Given the description of an element on the screen output the (x, y) to click on. 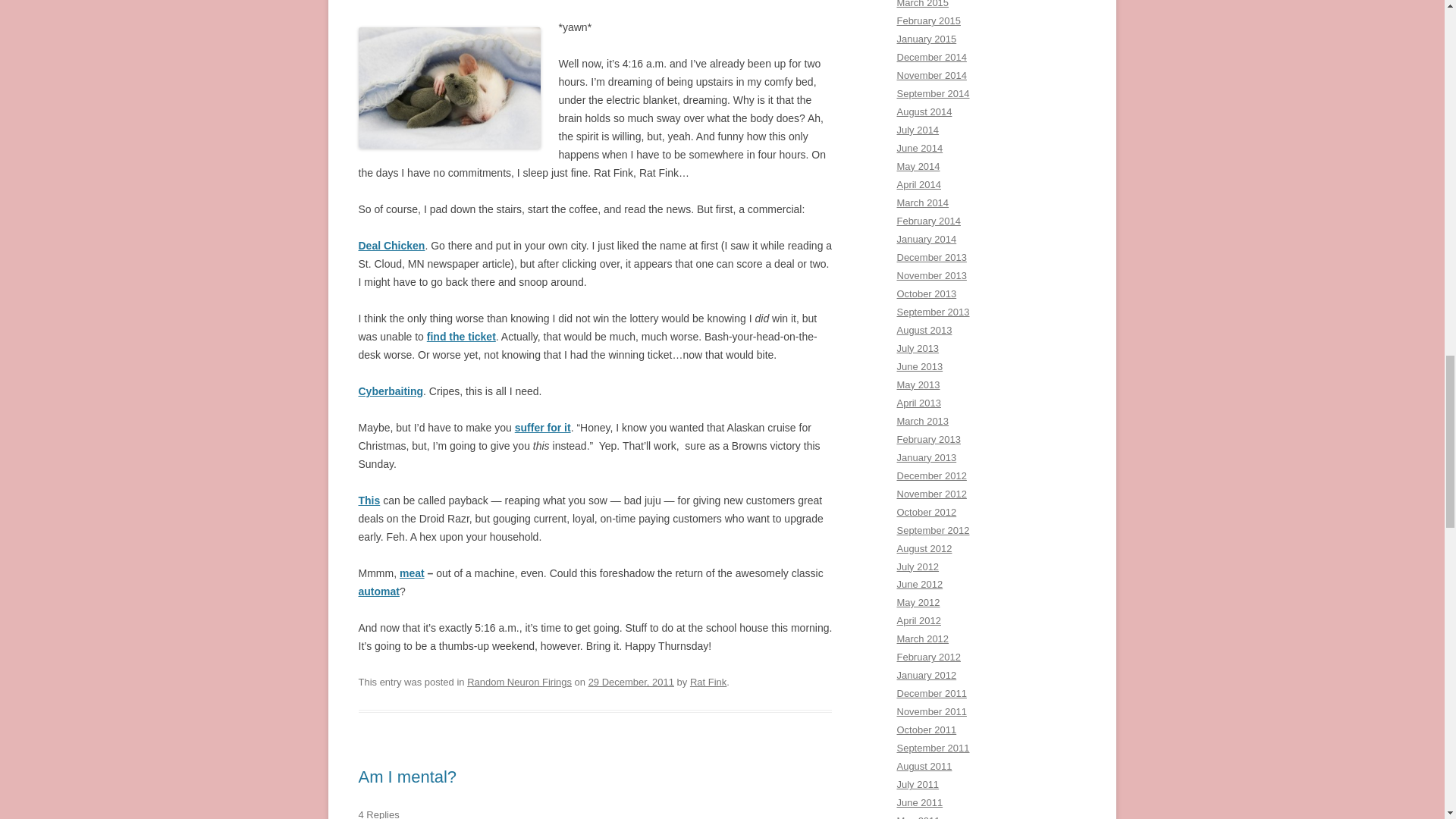
automat (378, 591)
Cyberbaiting (390, 390)
5:24 am (631, 681)
find the ticket (461, 336)
Deal Chicken (391, 245)
This (369, 500)
View all posts by Rat Fink (708, 681)
Random Neuron Firings (519, 681)
29 December, 2011 (631, 681)
suffer for it (542, 427)
